Given the description of an element on the screen output the (x, y) to click on. 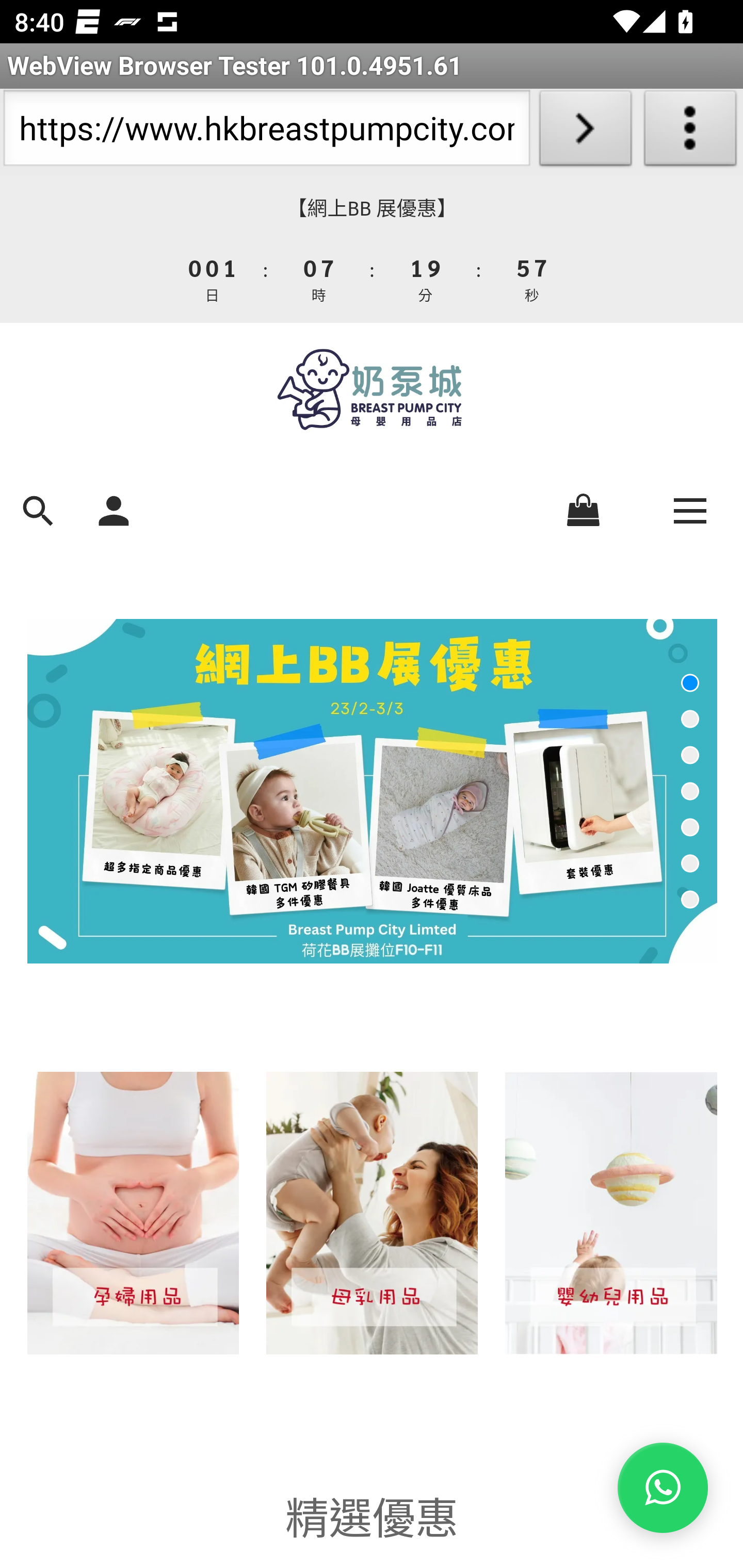
https://www.hkbreastpumpcity.com/ (266, 132)
Load URL (585, 132)
About WebView (690, 132)
【網上BB 展優惠】 (371, 208)
594x (371, 389)
sign_in (113, 508)
精選優惠 (371, 1514)
